Given the description of an element on the screen output the (x, y) to click on. 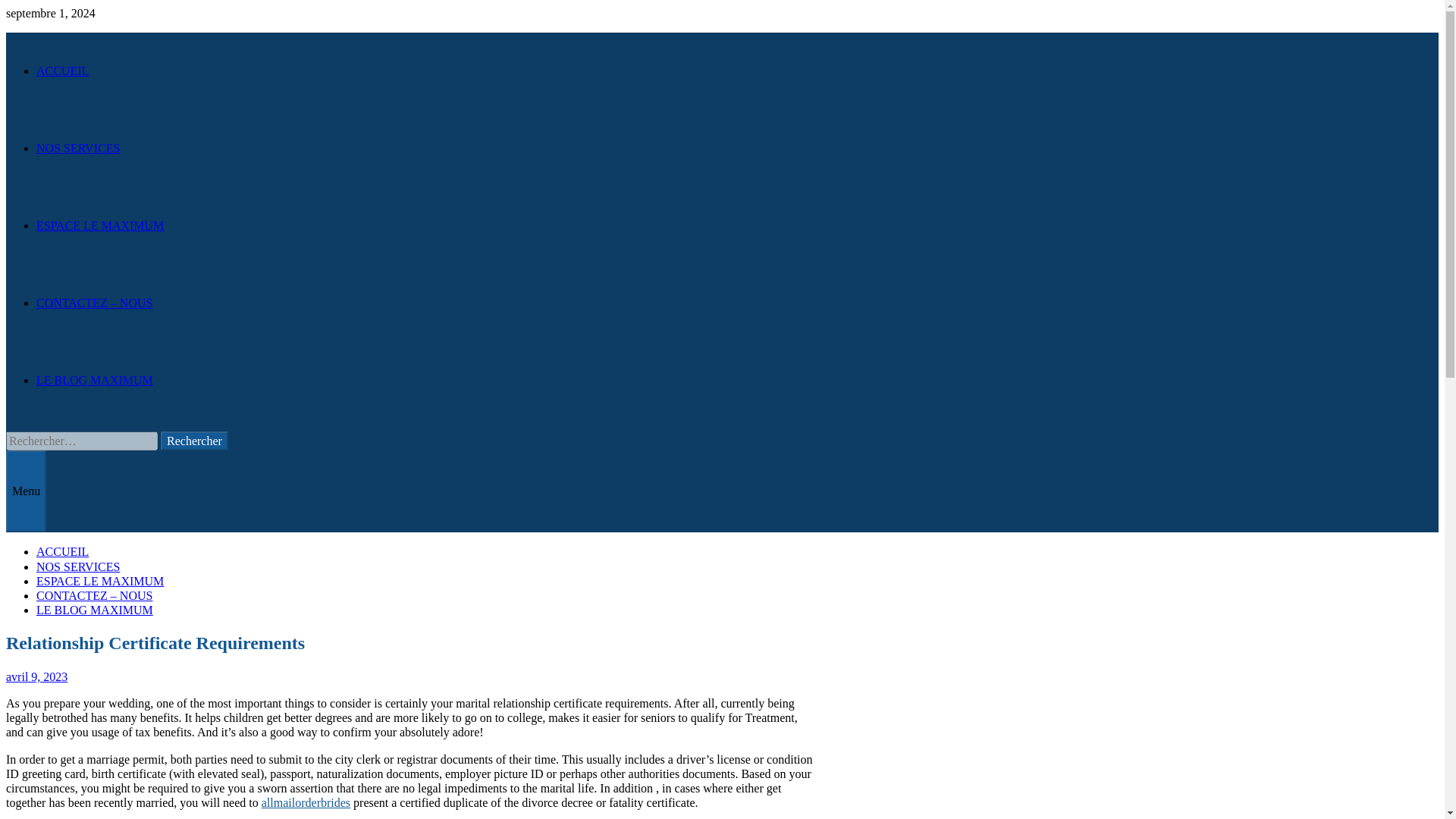
NOS SERVICES (77, 566)
Rechercher (194, 440)
ESPACE LE MAXIMUM (99, 225)
LE BLOG MAXIMUM (94, 609)
ESPACE LE MAXIMUM (99, 581)
Rechercher (194, 440)
Rechercher (194, 440)
ACCUEIL (62, 70)
allmailorderbrides (306, 802)
